Given the description of an element on the screen output the (x, y) to click on. 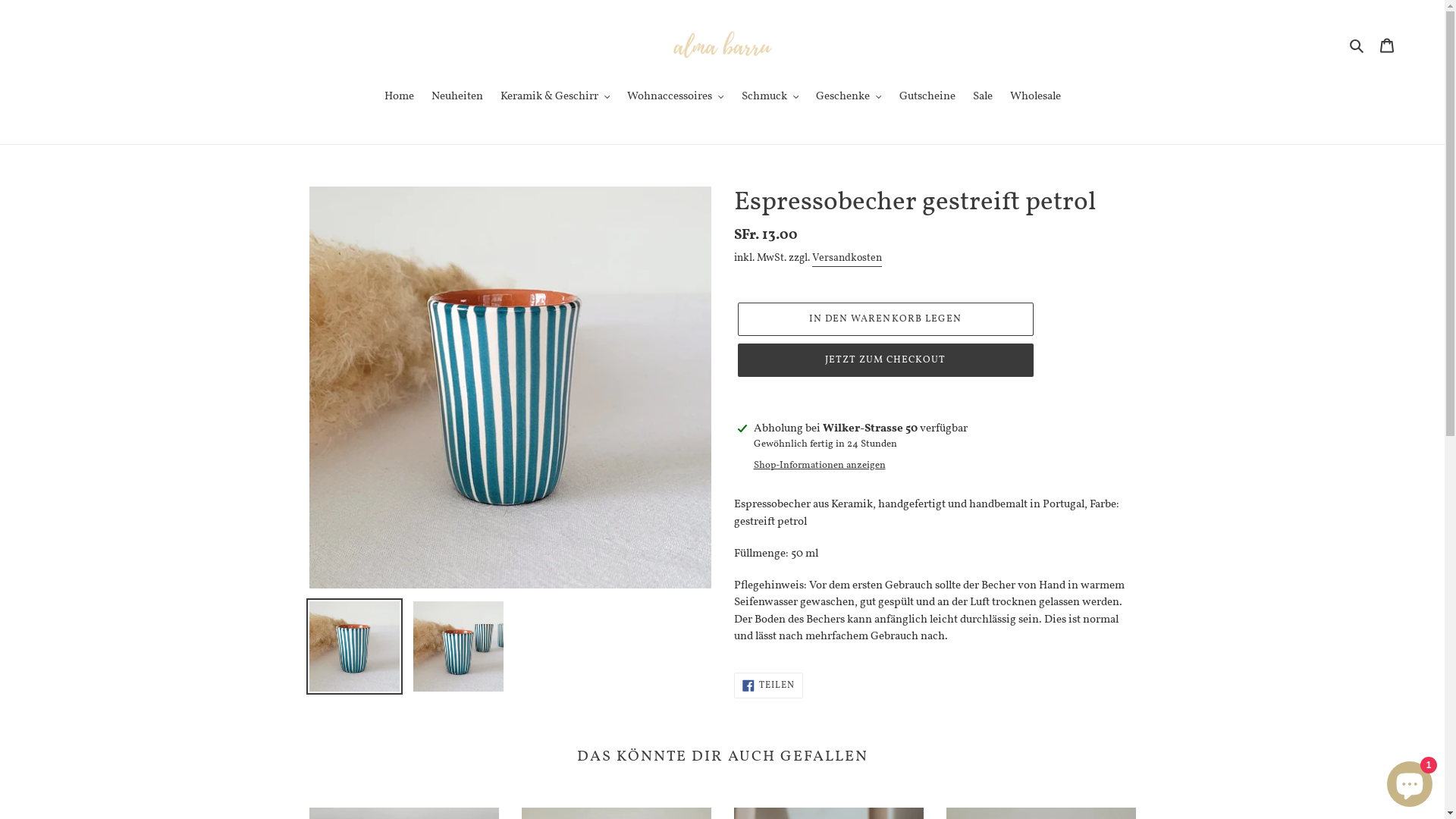
Home Element type: text (398, 98)
JETZT ZUM CHECKOUT Element type: text (884, 359)
Warenkorb Element type: text (1386, 46)
Suchen Element type: text (1357, 46)
Versandkosten Element type: text (846, 258)
Shop-Informationen anzeigen Element type: text (819, 465)
Schmuck Element type: text (770, 98)
Gutscheine Element type: text (927, 98)
Wohnaccessoires Element type: text (675, 98)
Geschenke Element type: text (848, 98)
Wholesale Element type: text (1035, 98)
Neuheiten Element type: text (456, 98)
TEILEN
AUF FACEBOOK TEILEN Element type: text (768, 685)
Keramik & Geschirr Element type: text (555, 98)
IN DEN WARENKORB LEGEN Element type: text (884, 318)
Onlineshop-Chat von Shopify Element type: hover (1409, 780)
Sale Element type: text (981, 98)
